Given the description of an element on the screen output the (x, y) to click on. 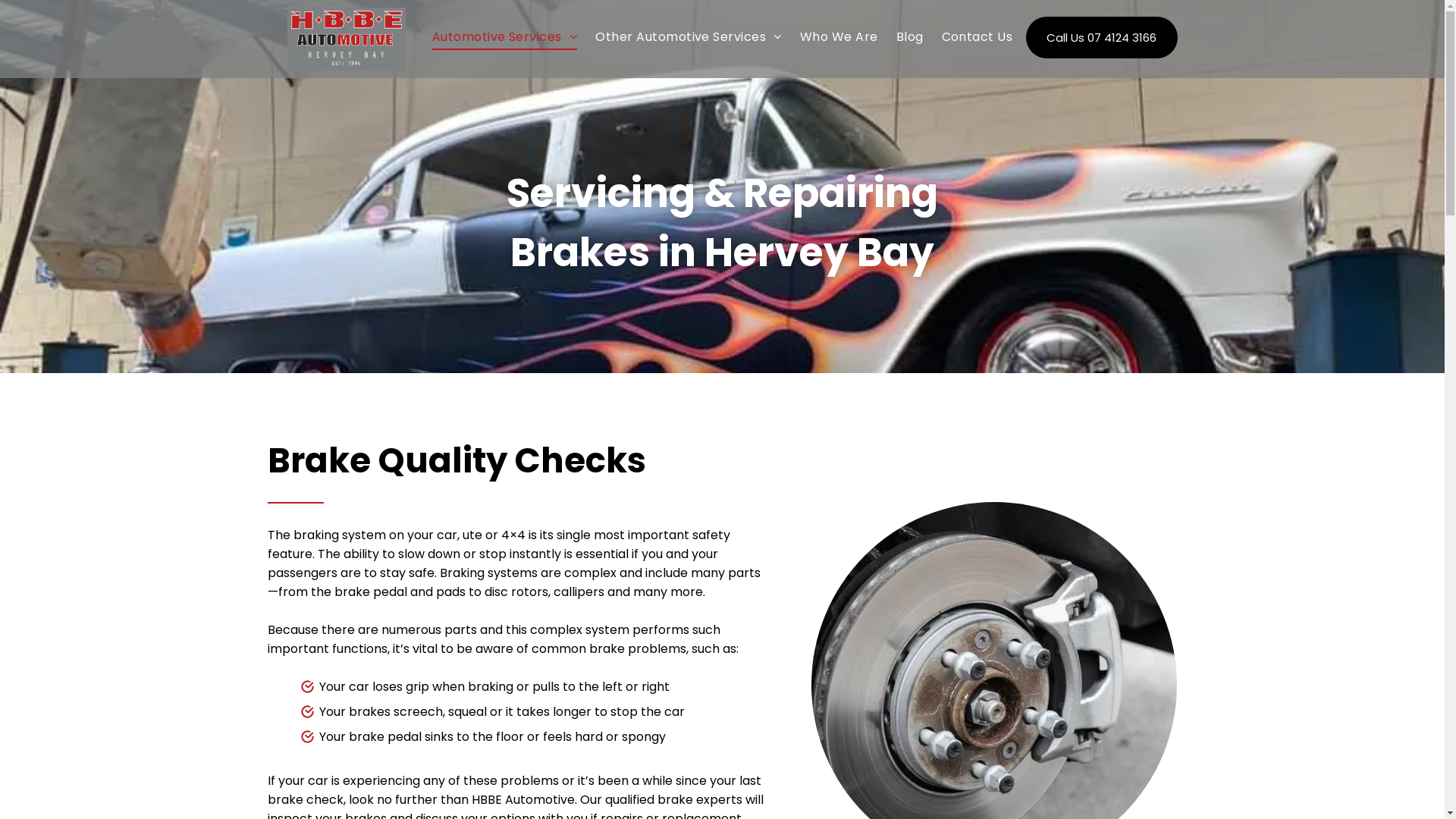
Blog Element type: text (909, 36)
Other Automotive Services Element type: text (688, 36)
Who We Are Element type: text (838, 36)
Contact Us Element type: text (977, 36)
Automotive Services Element type: text (504, 36)
Call Us 07 4124 3166 Element type: text (1100, 37)
